Given the description of an element on the screen output the (x, y) to click on. 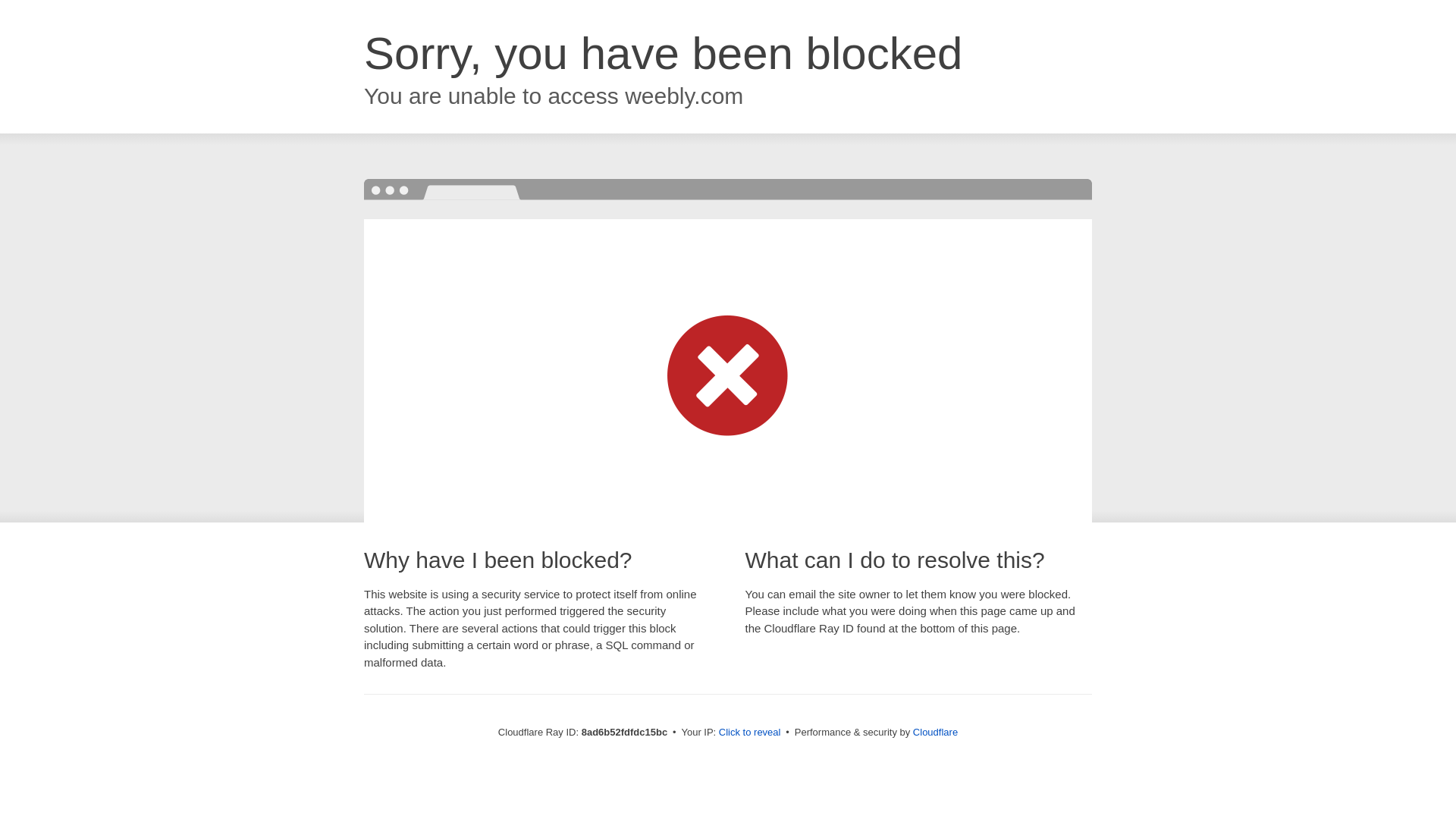
Click to reveal (749, 732)
Cloudflare (935, 731)
